Given the description of an element on the screen output the (x, y) to click on. 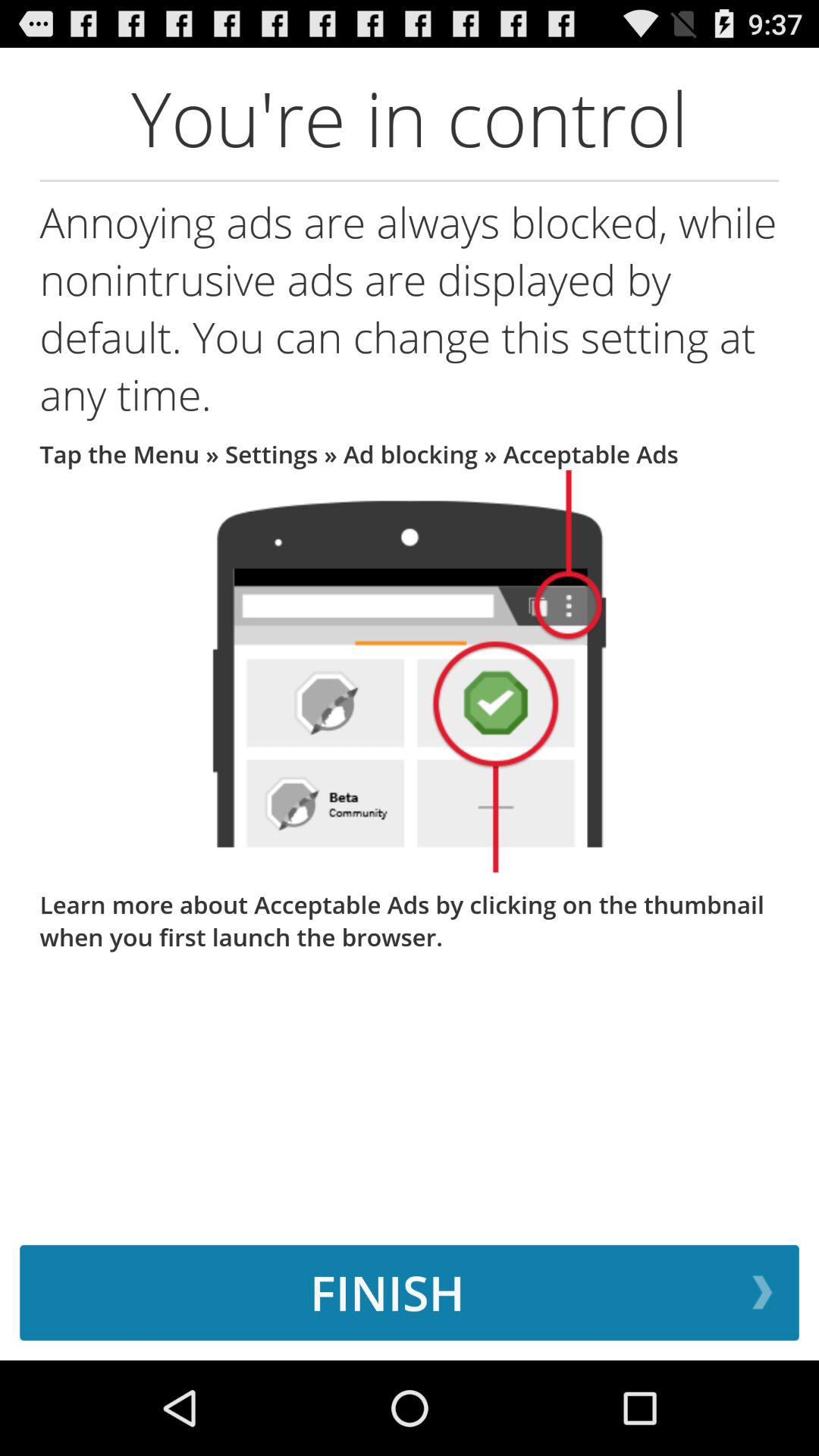
launch finish item (409, 1292)
